Given the description of an element on the screen output the (x, y) to click on. 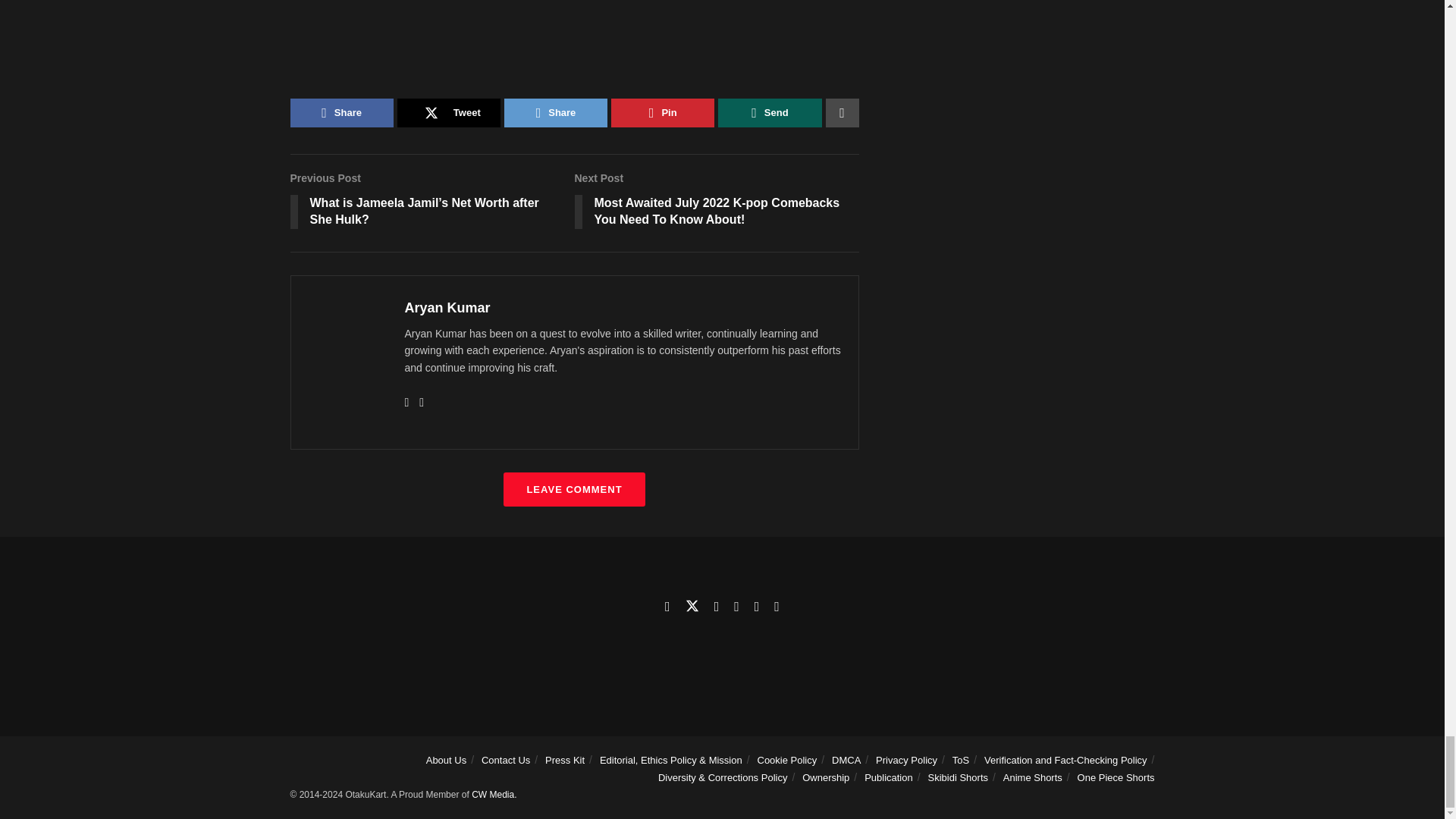
Share (341, 112)
Aryan Kumar (447, 307)
Tweet (448, 112)
Send (769, 112)
Pin (662, 112)
Share (555, 112)
